Given the description of an element on the screen output the (x, y) to click on. 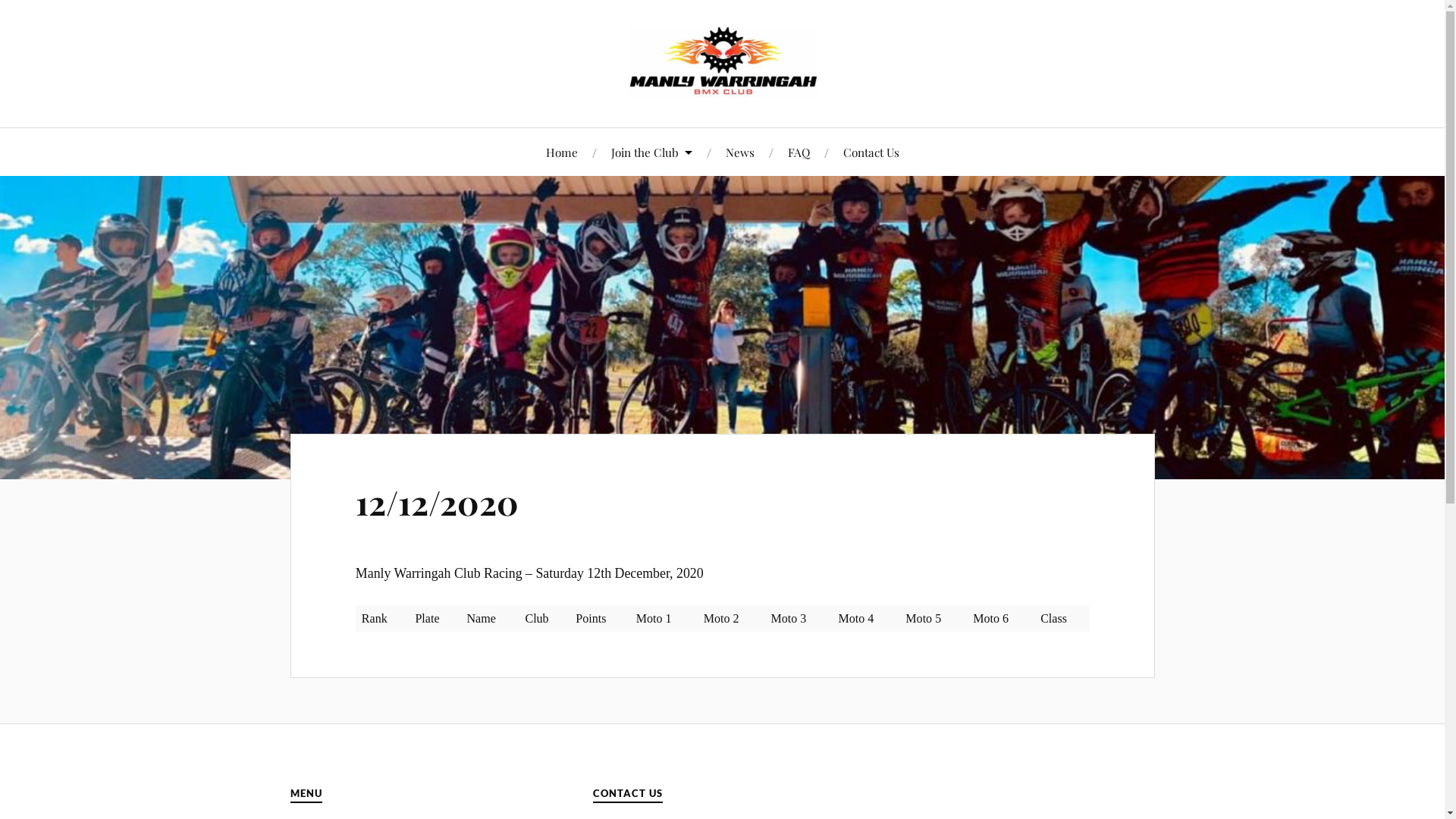
FAQ Element type: text (798, 151)
Contact Us Element type: text (871, 151)
News Element type: text (738, 151)
Join the Club Element type: text (651, 151)
12/12/2020 Element type: text (436, 501)
Home Element type: text (561, 151)
